Given the description of an element on the screen output the (x, y) to click on. 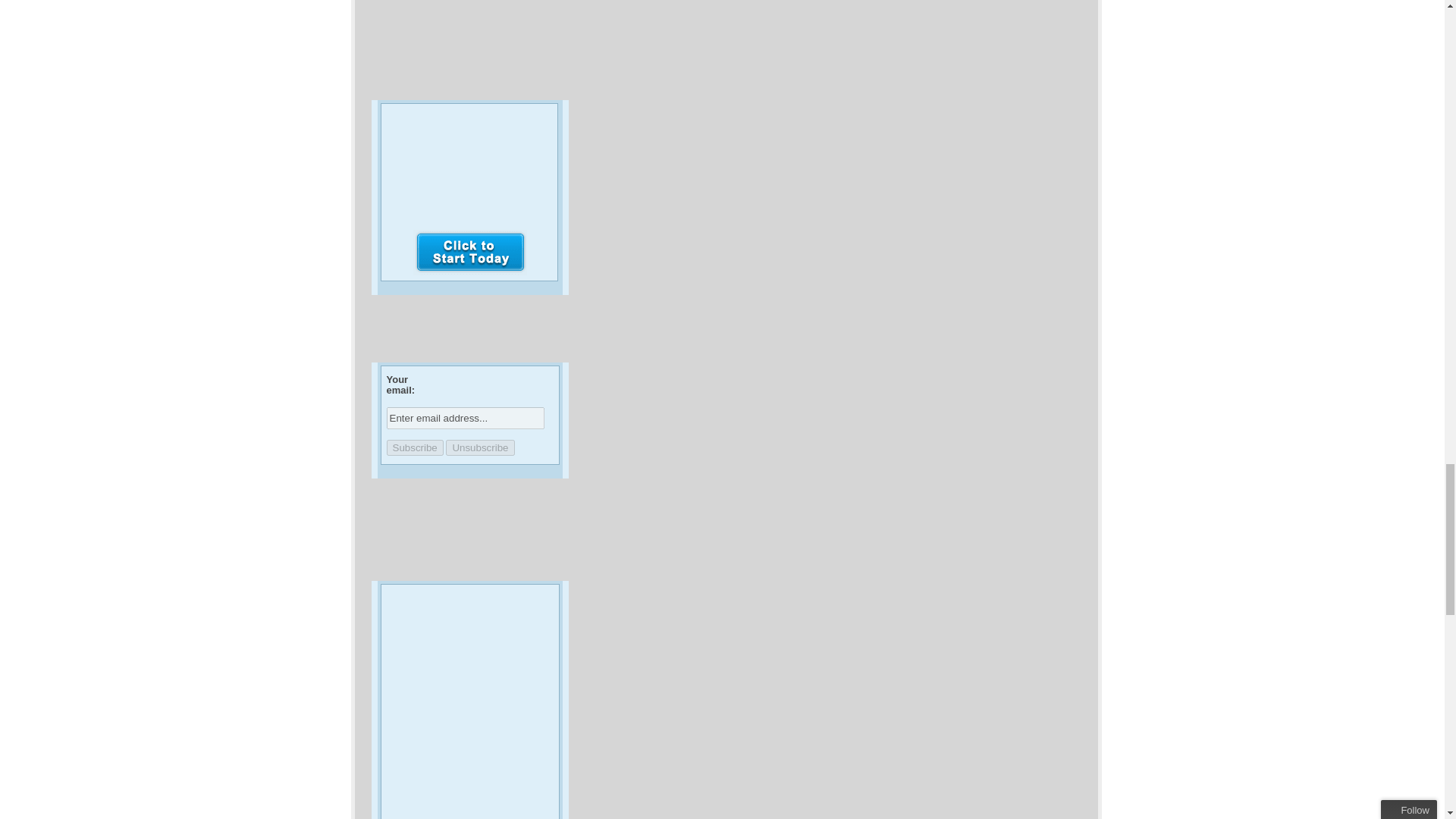
Enter email address... (465, 418)
Unsubscribe (479, 447)
Submit (470, 252)
Subscribe (415, 447)
Subscribe (415, 447)
Unsubscribe (479, 447)
